Given the description of an element on the screen output the (x, y) to click on. 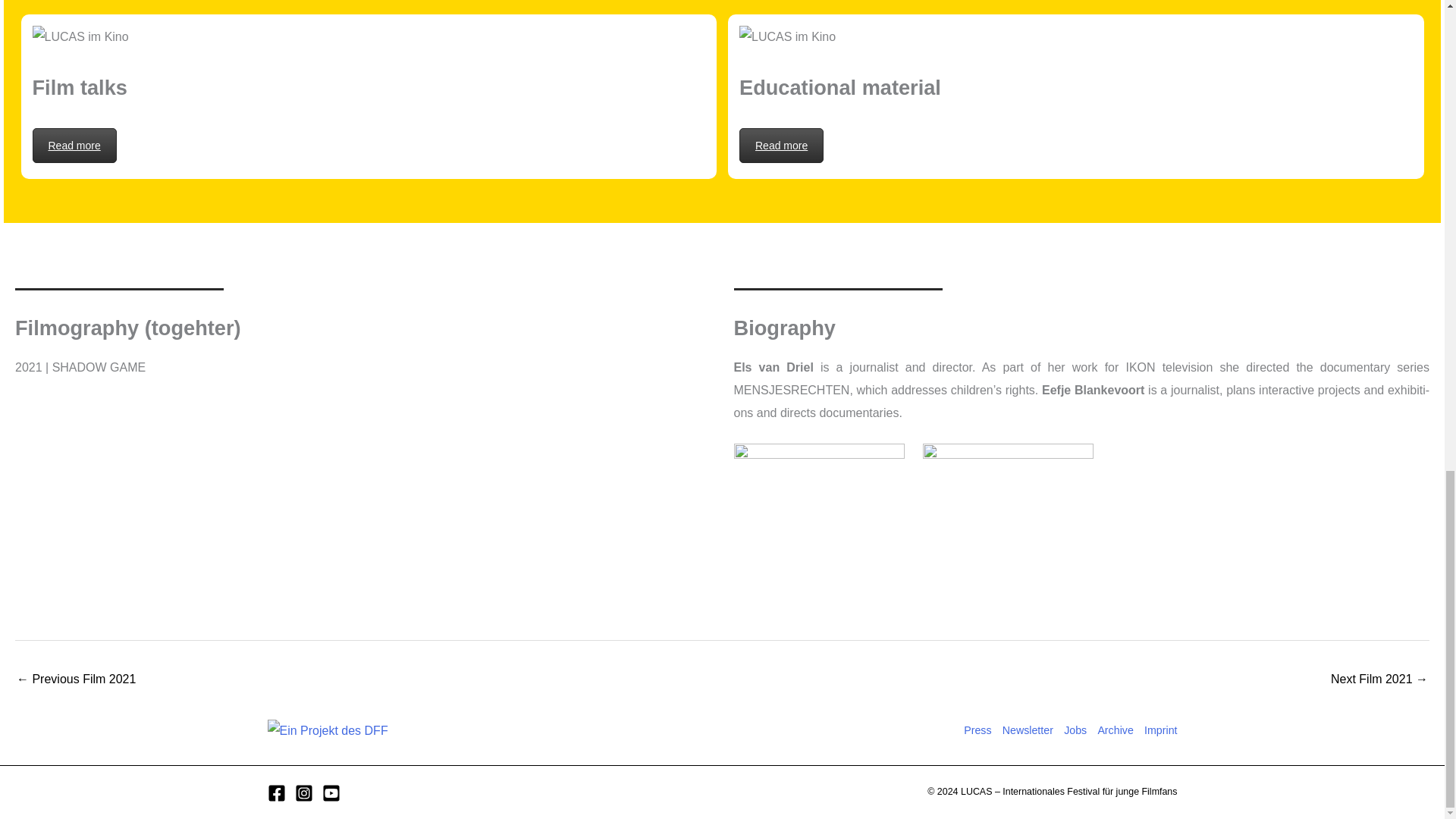
THE WHALER BOY (1379, 680)
LUCAS im Kino (80, 36)
THE LAST PICTURE SHOW (75, 680)
LUCAS im Kino (787, 36)
